Given the description of an element on the screen output the (x, y) to click on. 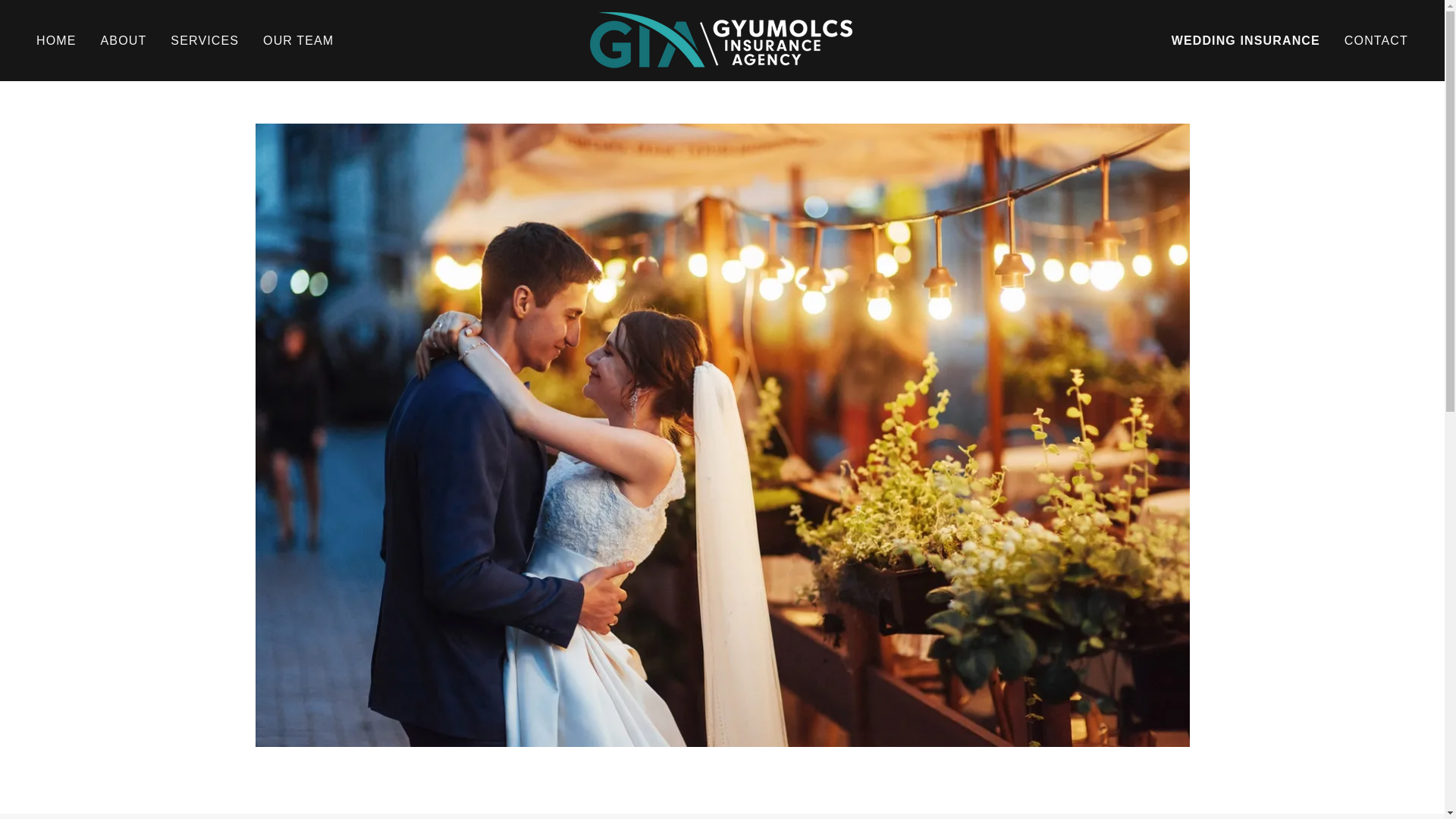
HOME (56, 40)
WEDDING INSURANCE (1246, 40)
CONTACT (1375, 40)
ABOUT (123, 40)
OUR TEAM (298, 40)
SERVICES (204, 40)
